Given the description of an element on the screen output the (x, y) to click on. 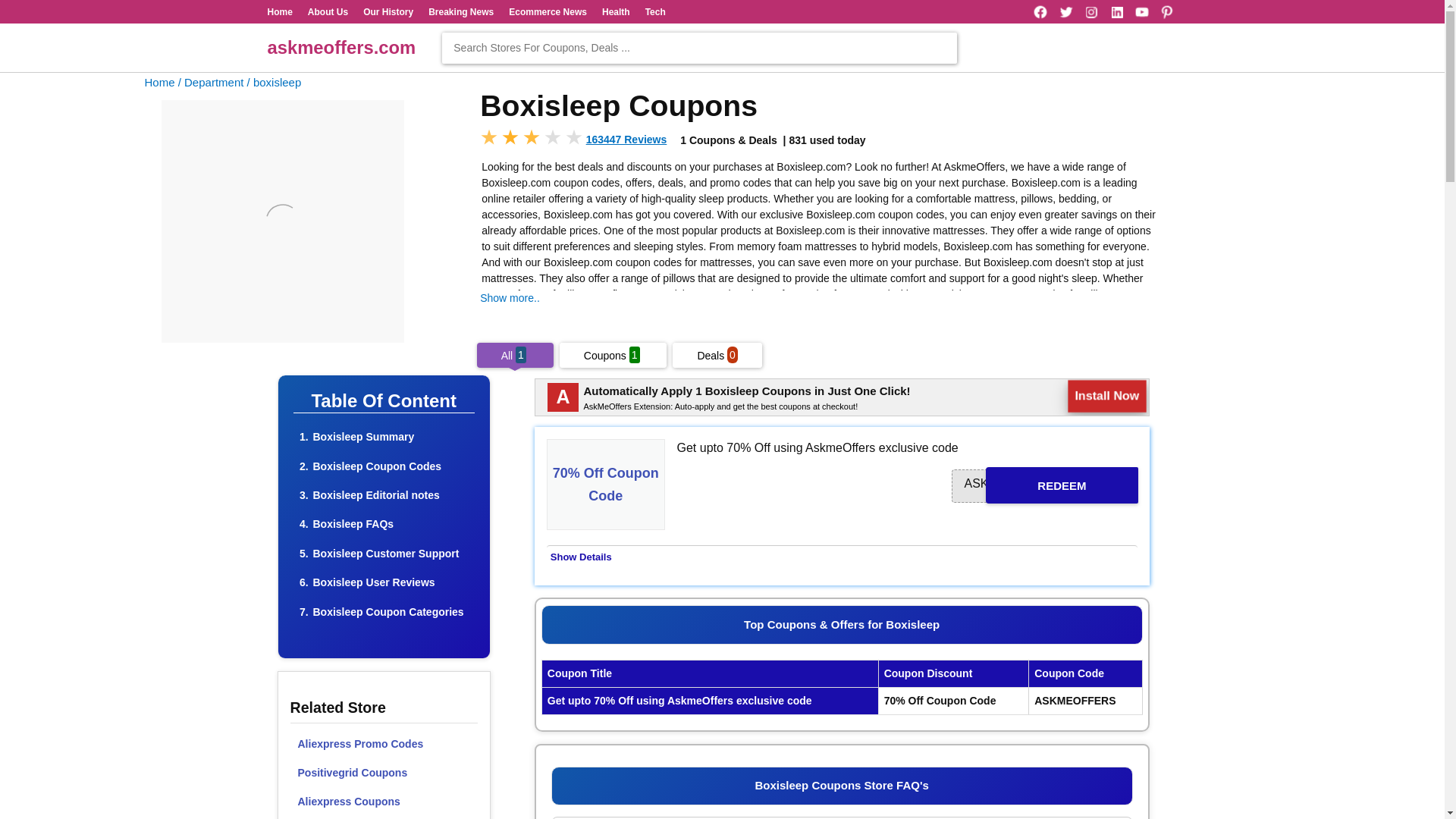
Twitter Username (1066, 12)
Ecommerce News (547, 11)
Askmeoffers Homepage (159, 82)
Anntaylor Coupons (383, 817)
Breaking News (460, 11)
Pinterest (1166, 12)
Twitter Username (1066, 12)
Coupons 1 (612, 355)
Boxisleep Editorial notes (376, 494)
Home (279, 11)
Department Coupons (210, 82)
Aliexpress Promo Codes (383, 743)
LinkedIn (1116, 12)
Instagram (1091, 12)
Instagram (1091, 12)
